Given the description of an element on the screen output the (x, y) to click on. 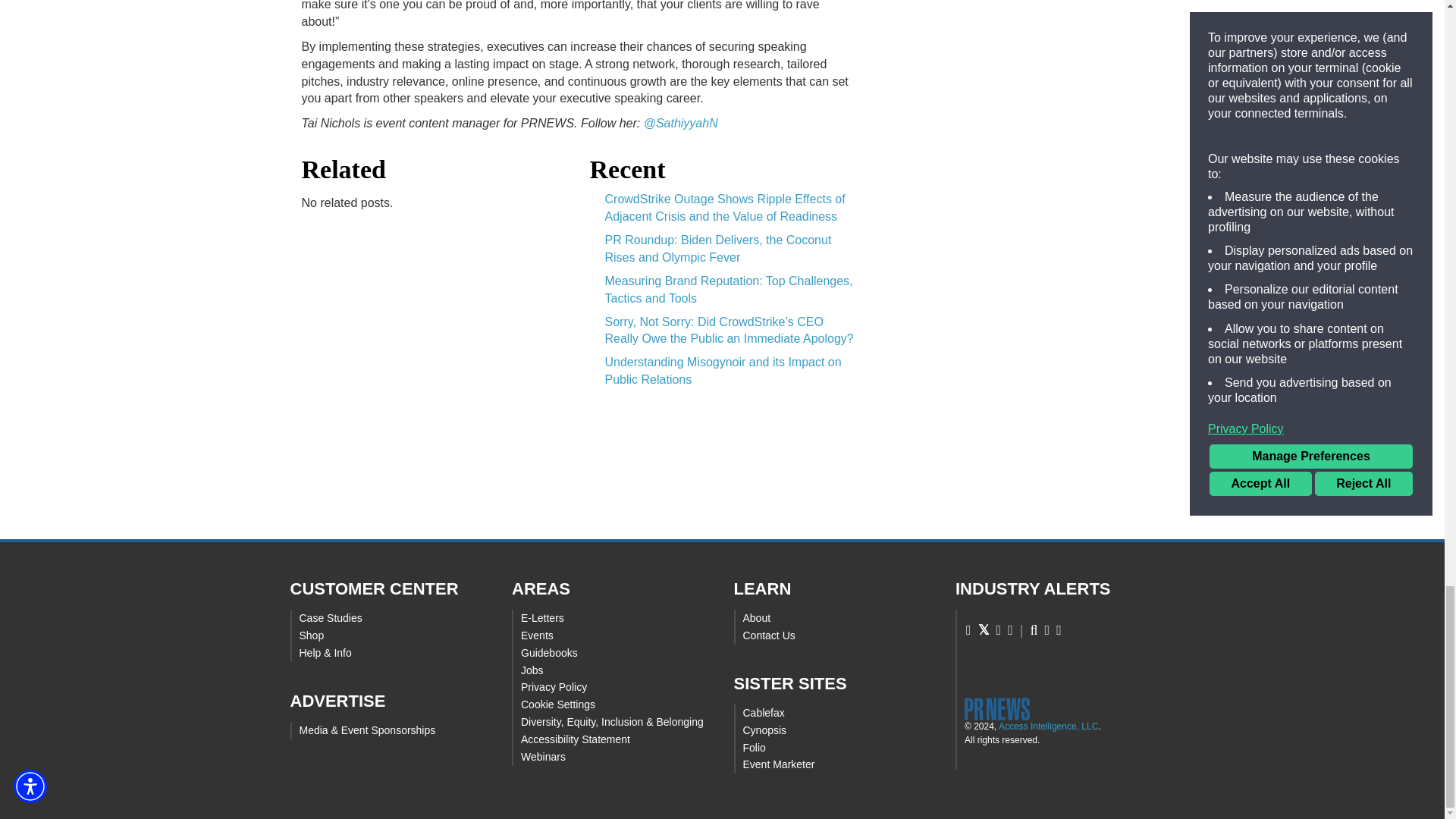
3rd party ad content (722, 481)
